Given the description of an element on the screen output the (x, y) to click on. 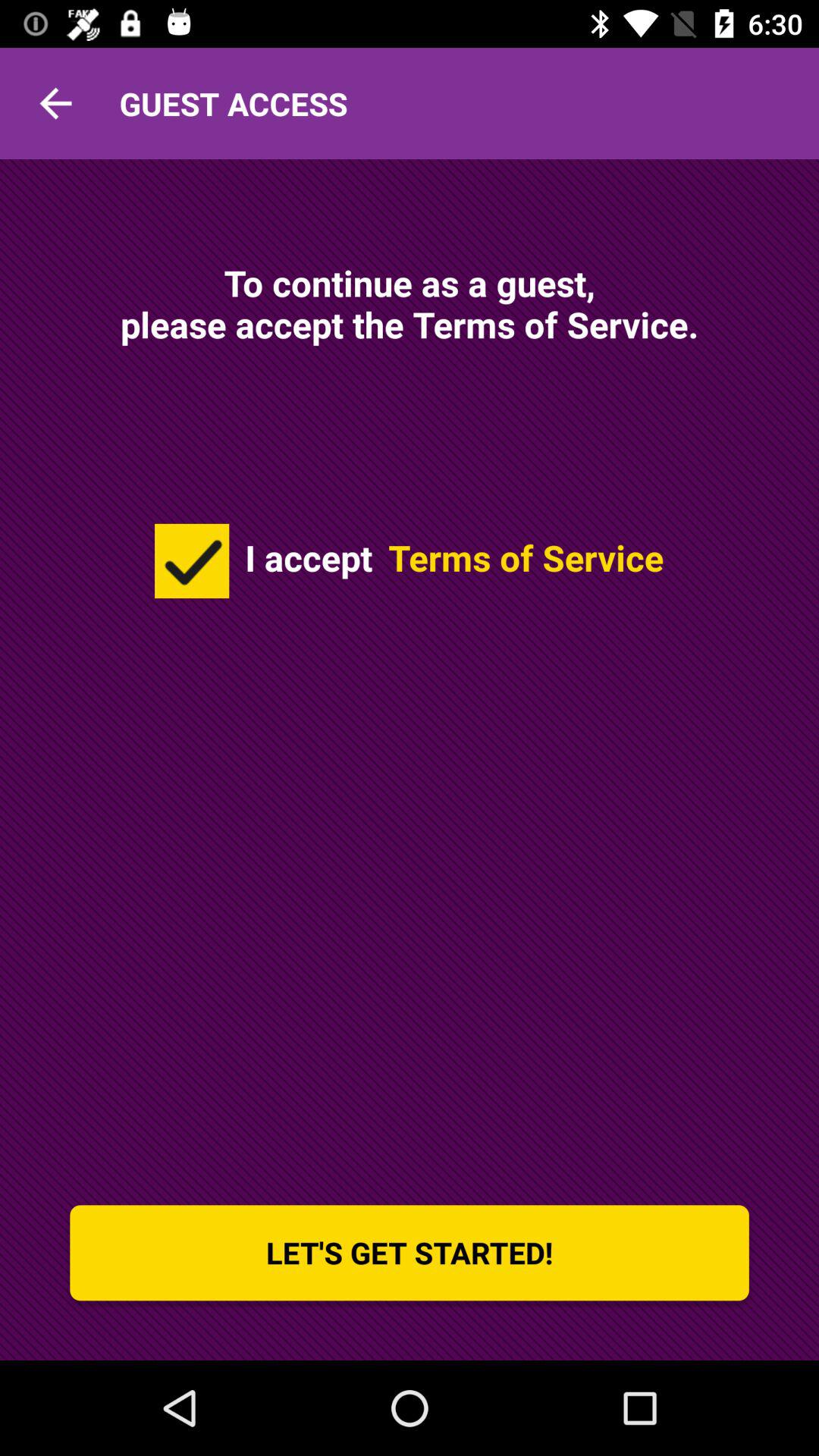
accept terms of service (191, 560)
